Given the description of an element on the screen output the (x, y) to click on. 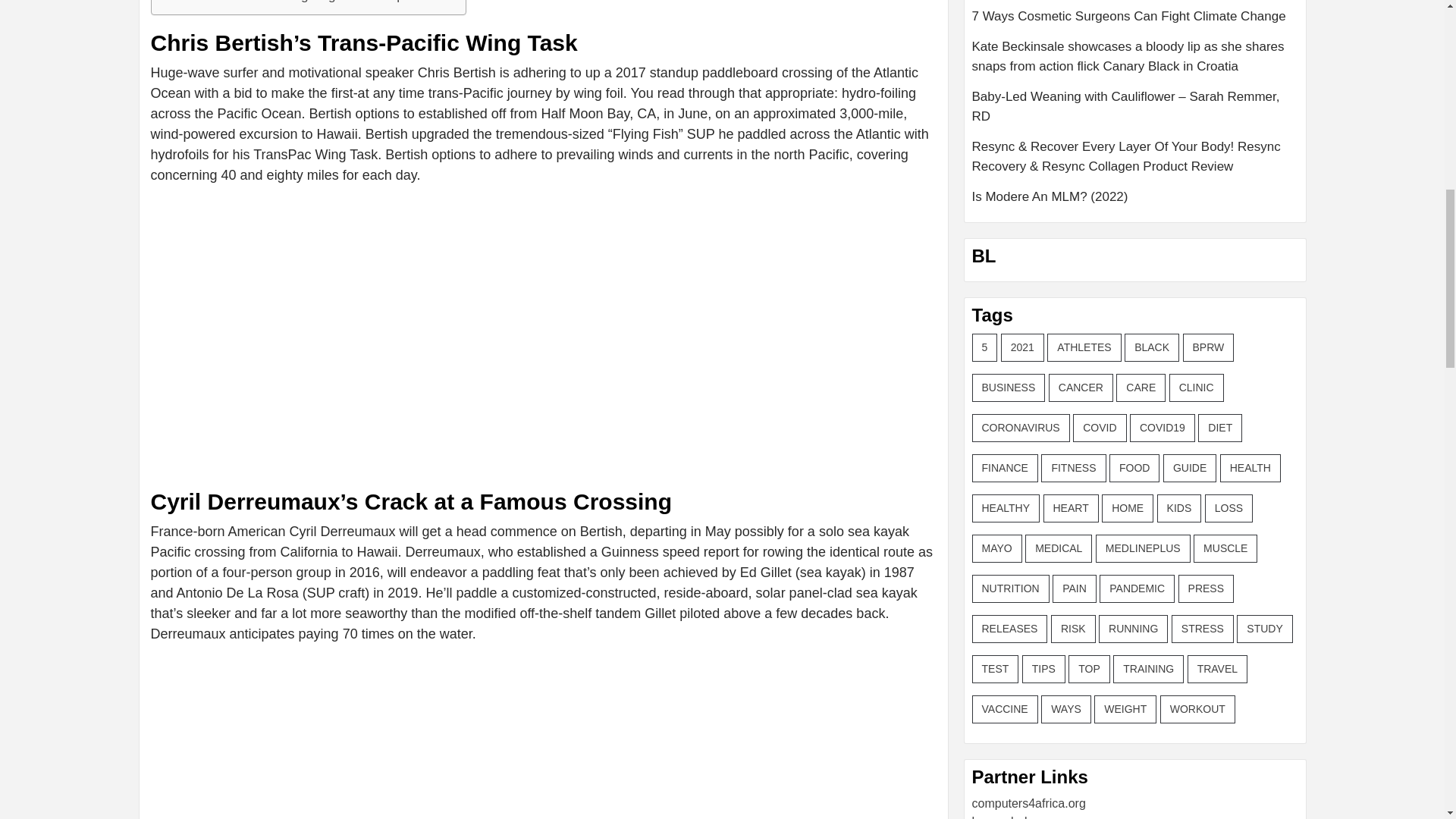
YouTube video player (362, 737)
7 Ways Cosmetic Surgeons Can Fight Climate Change (1135, 21)
YouTube video player (362, 316)
